Given the description of an element on the screen output the (x, y) to click on. 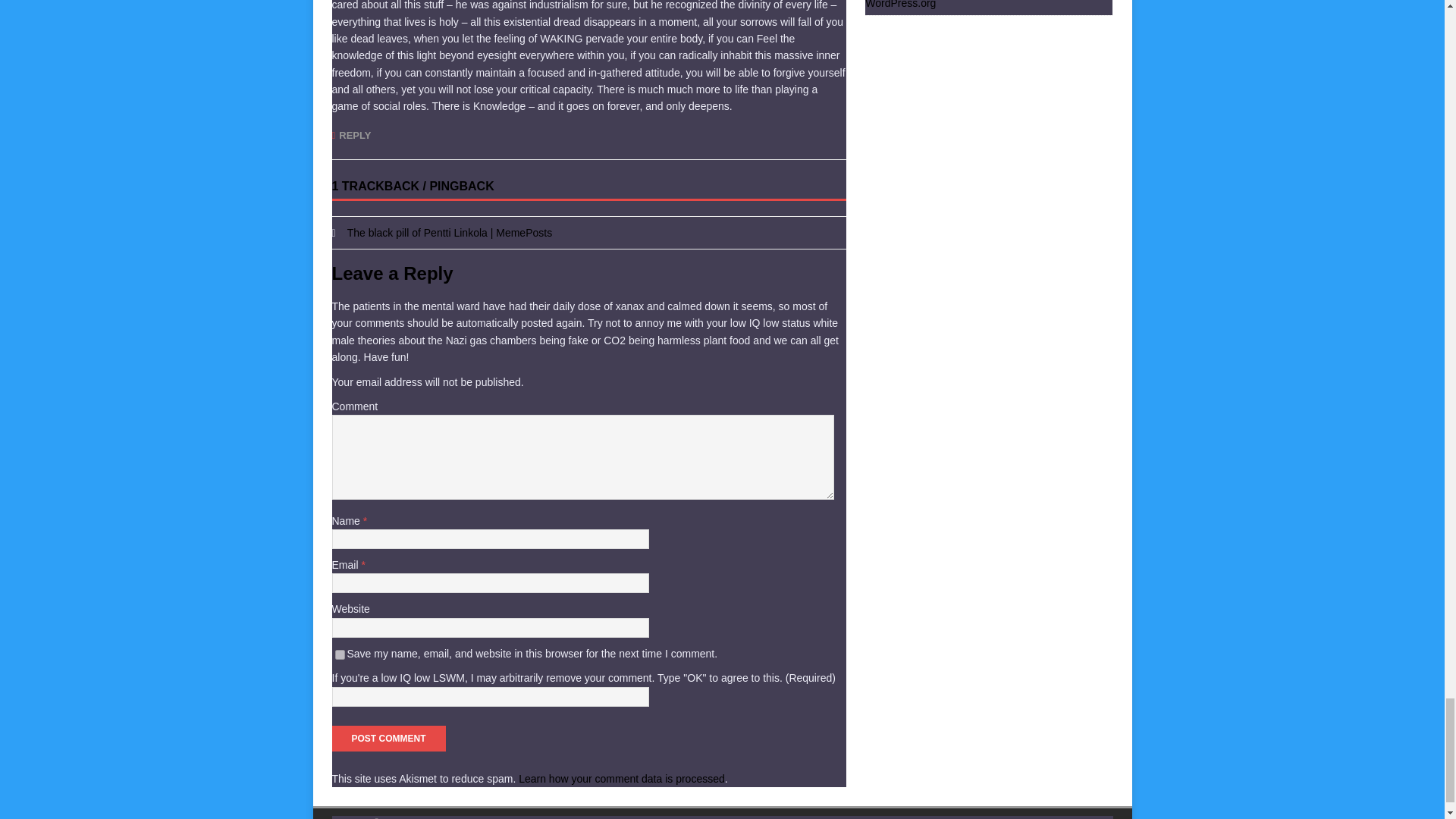
Post Comment (388, 738)
yes (339, 655)
REPLY (351, 134)
